Given the description of an element on the screen output the (x, y) to click on. 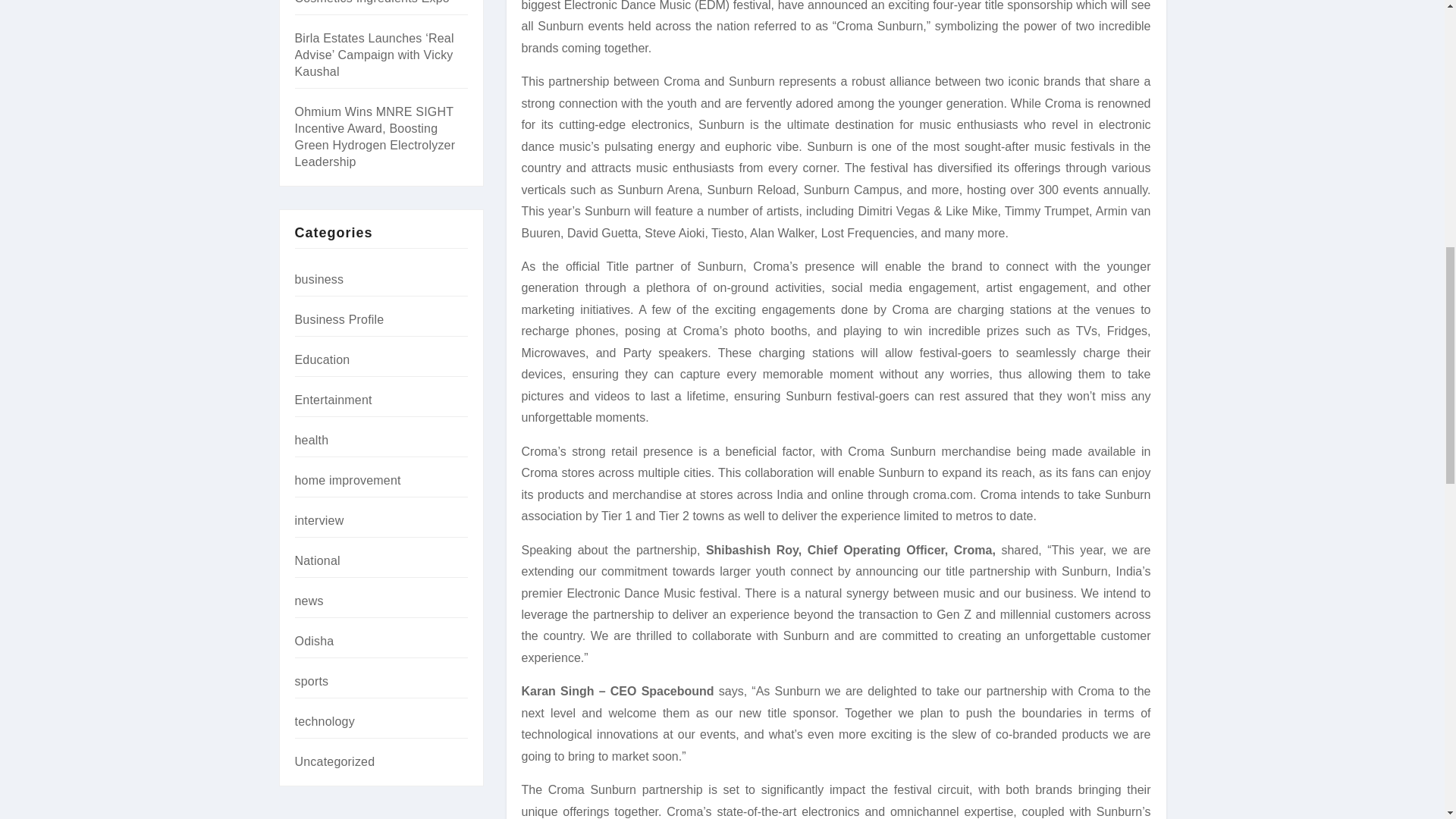
home improvement (347, 480)
Odisha (313, 640)
Uncategorized (334, 761)
sports (311, 680)
Business Profile (339, 318)
National (316, 560)
interview (318, 520)
news (308, 600)
